Given the description of an element on the screen output the (x, y) to click on. 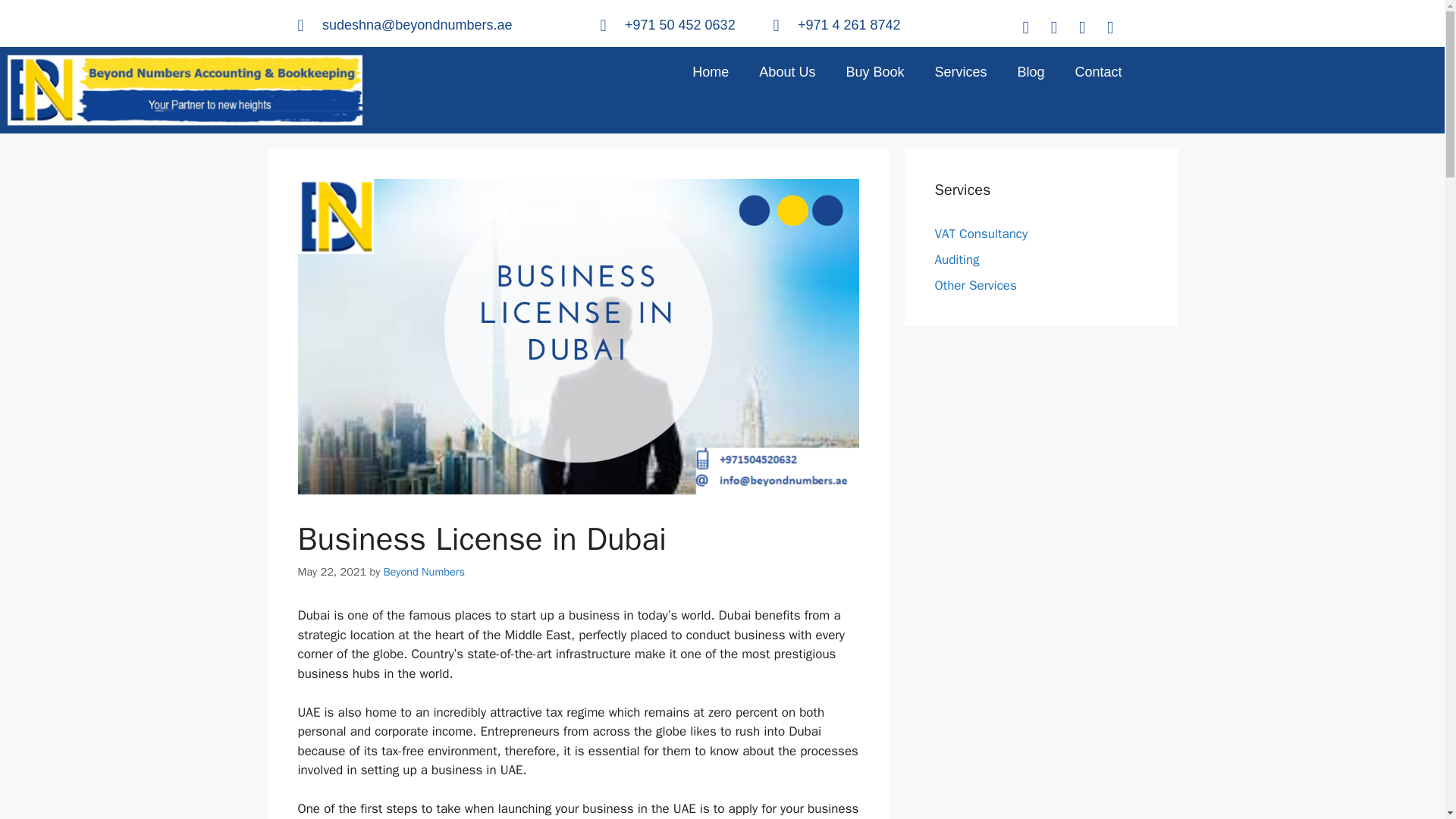
View all posts by Beyond Numbers (424, 571)
Services (959, 71)
Contact (1098, 71)
Blog (1030, 71)
Beyond Numbers (424, 571)
Buy Book (873, 71)
Home (710, 71)
About Us (786, 71)
